Given the description of an element on the screen output the (x, y) to click on. 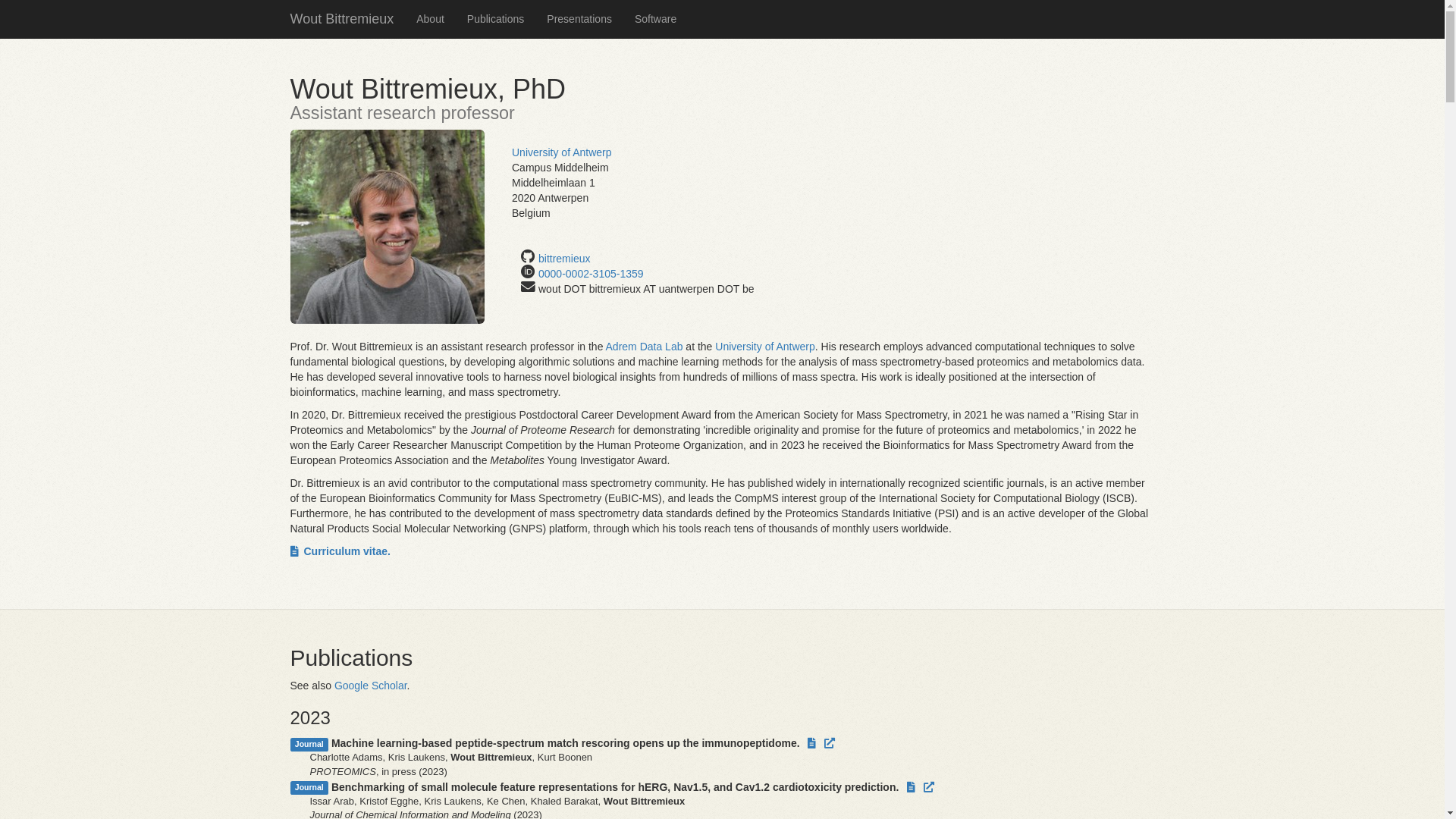
Wout Bittremieux Element type: text (342, 18)
About Element type: text (429, 18)
Adrem Data Lab Element type: text (644, 346)
Article Element type: hover (910, 787)
Presentations Element type: text (579, 18)
0000-0002-3105-1359 Element type: text (590, 273)
Publications Element type: text (495, 18)
Article Element type: hover (811, 743)
University of Antwerp Element type: text (561, 152)
Publication Element type: hover (928, 787)
Publication Element type: hover (829, 743)
University of Antwerp Element type: text (765, 346)
Software Element type: text (655, 18)
bittremieux Element type: text (563, 258)
Curriculum vitae. Element type: text (339, 551)
Google Scholar Element type: text (370, 685)
